Given the description of an element on the screen output the (x, y) to click on. 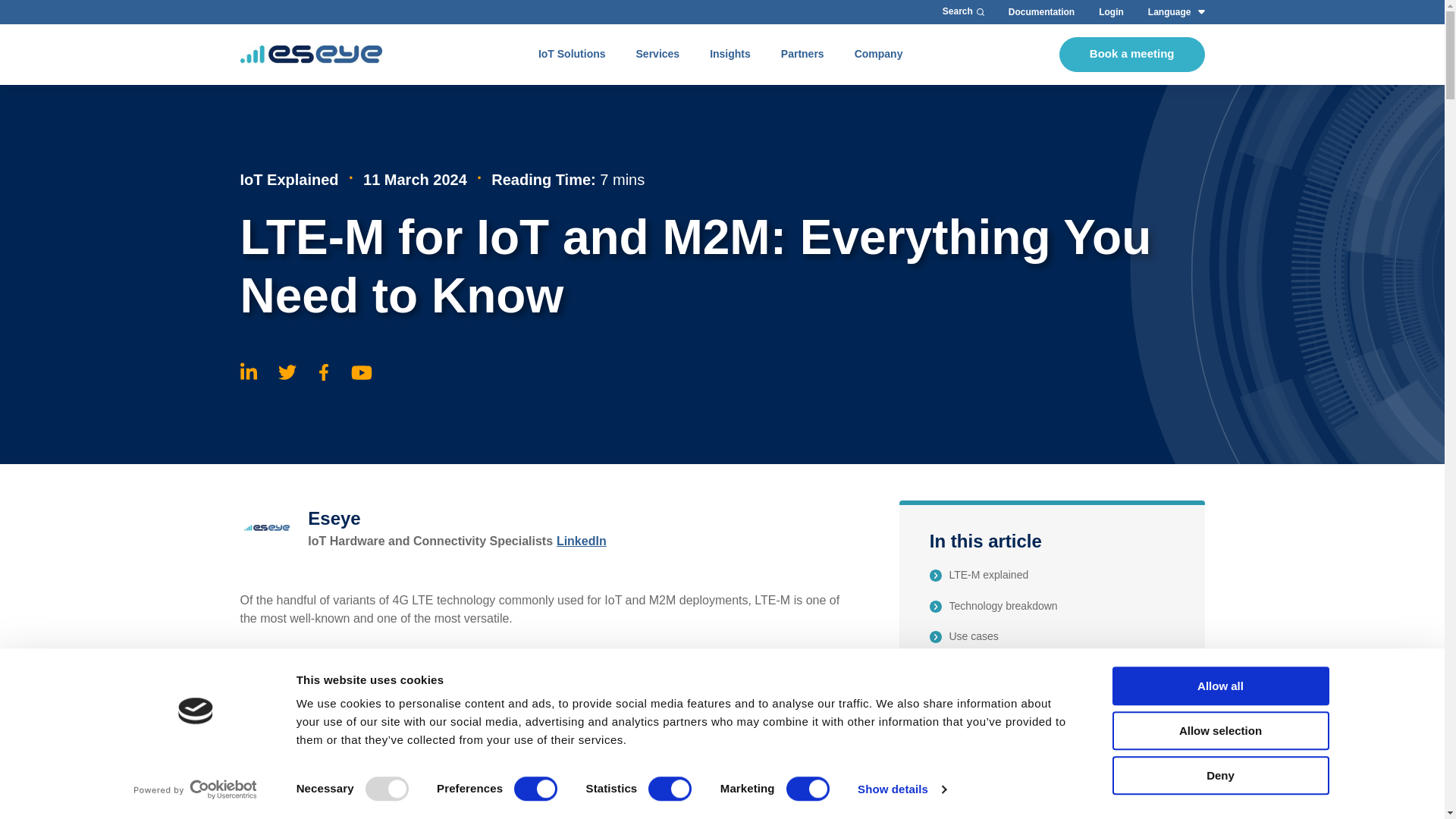
Show details (900, 789)
